Given the description of an element on the screen output the (x, y) to click on. 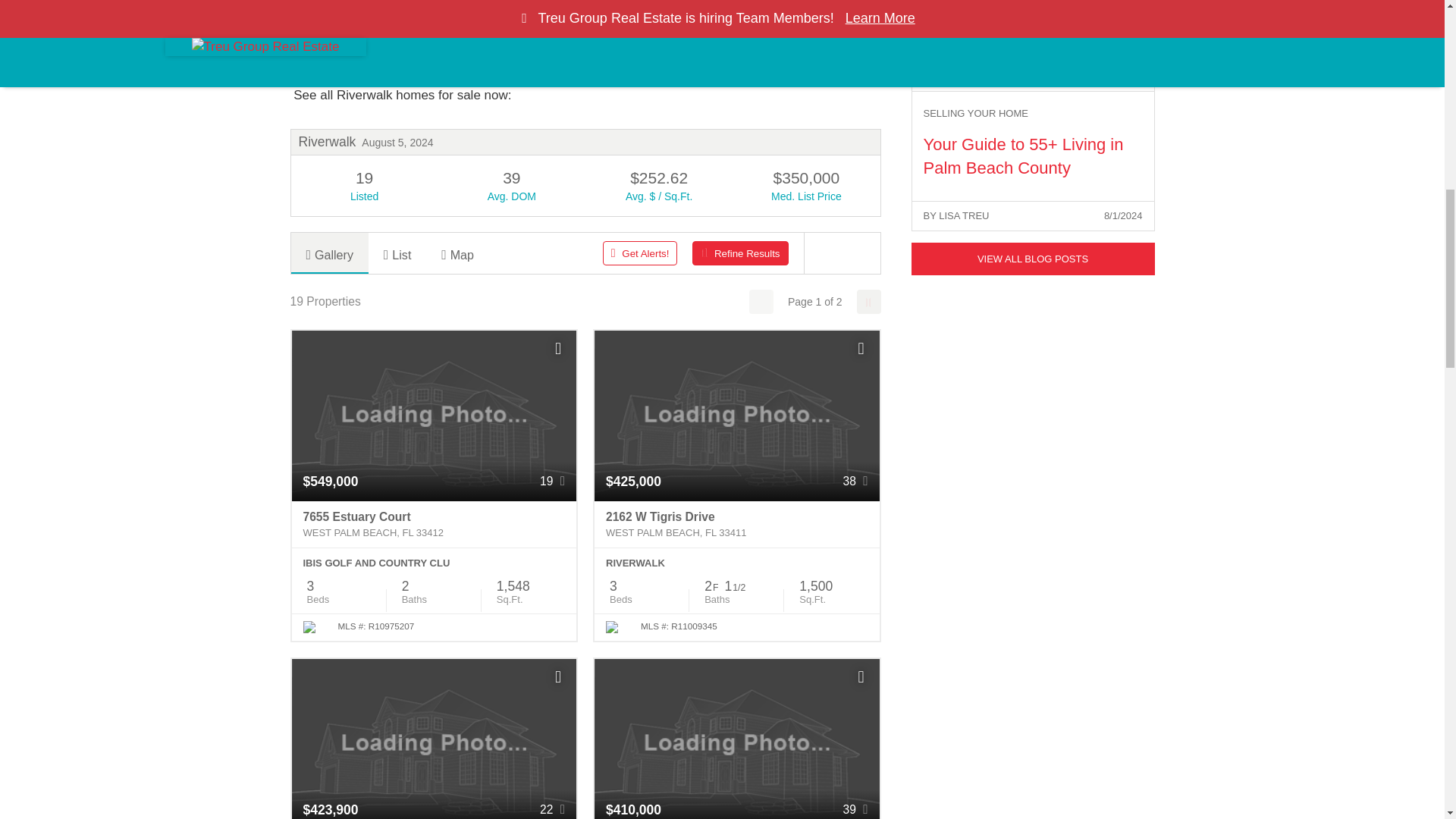
2162 W Tigris Drive West Palm Beach,  FL 33411 (736, 524)
7655 Estuary Court West Palm Beach,  FL 33412 (433, 524)
